Given the description of an element on the screen output the (x, y) to click on. 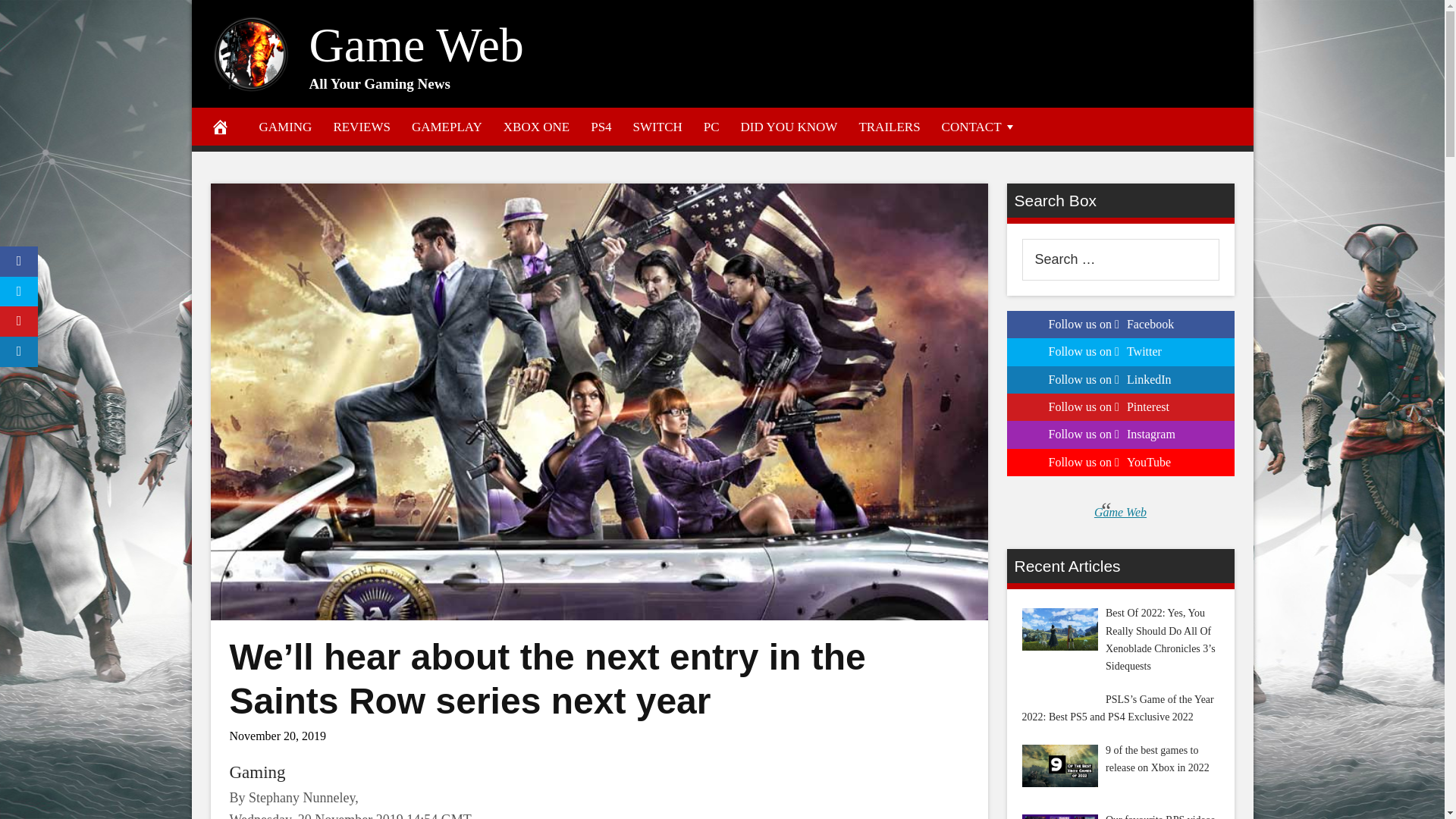
SWITCH (658, 126)
CONTACT (979, 126)
GAMEPLAY (447, 126)
PC (711, 126)
DID YOU KNOW (789, 126)
Game Web (416, 45)
GAMING (285, 126)
XBOX ONE (536, 126)
TRAILERS (888, 126)
PS4 (600, 126)
REVIEWS (361, 126)
Gaming (256, 772)
